Given the description of an element on the screen output the (x, y) to click on. 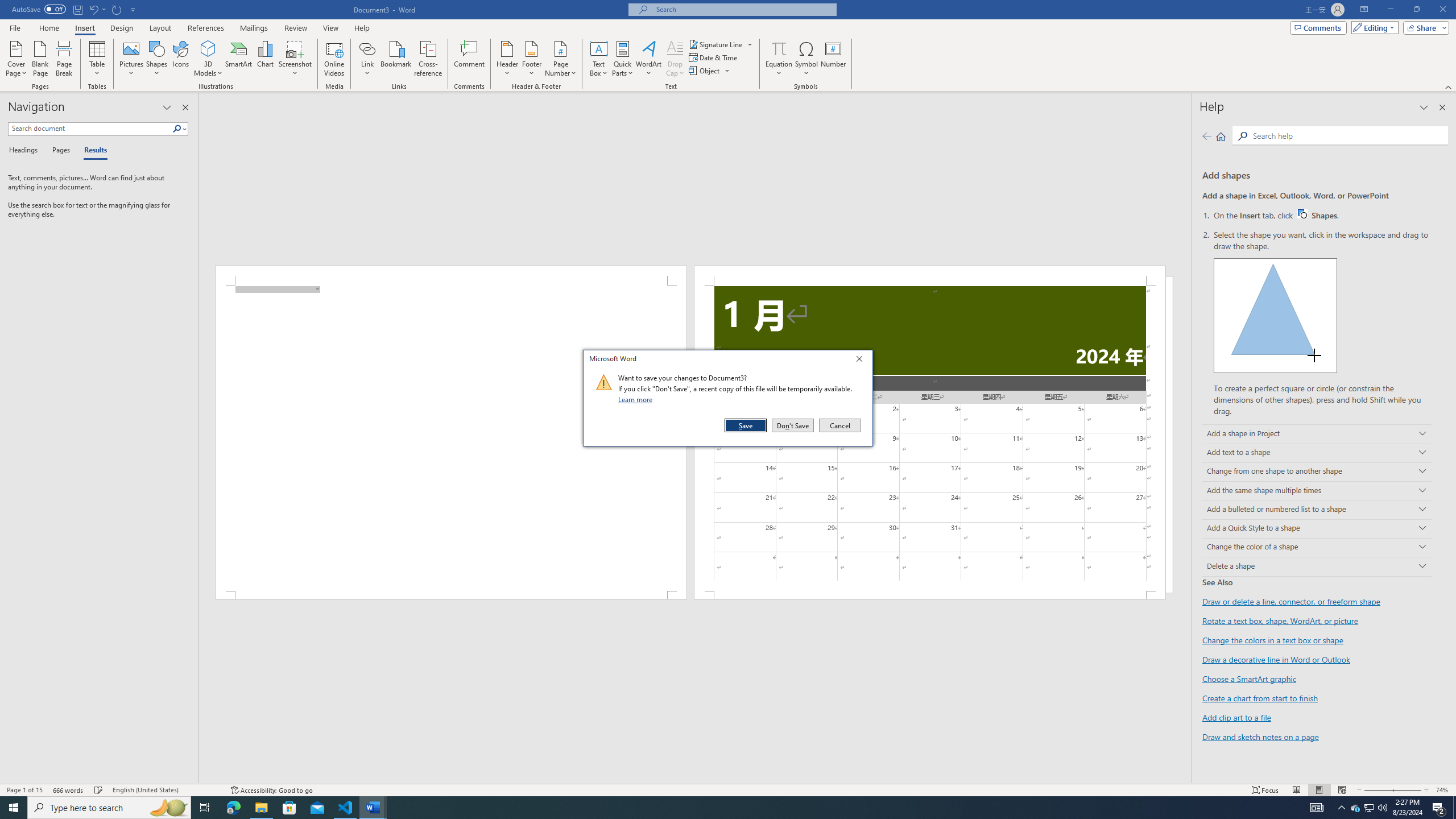
SmartArt... (238, 58)
View (330, 28)
Undo New Page (92, 9)
Don't Save (792, 425)
References (205, 28)
Choose a SmartArt graphic (1248, 678)
Link (367, 58)
Equation (778, 58)
Footer -Section 1- (1368, 807)
Cover Page (930, 595)
Ribbon Display Options (16, 58)
AutomationID: 4105 (1364, 9)
